Given the description of an element on the screen output the (x, y) to click on. 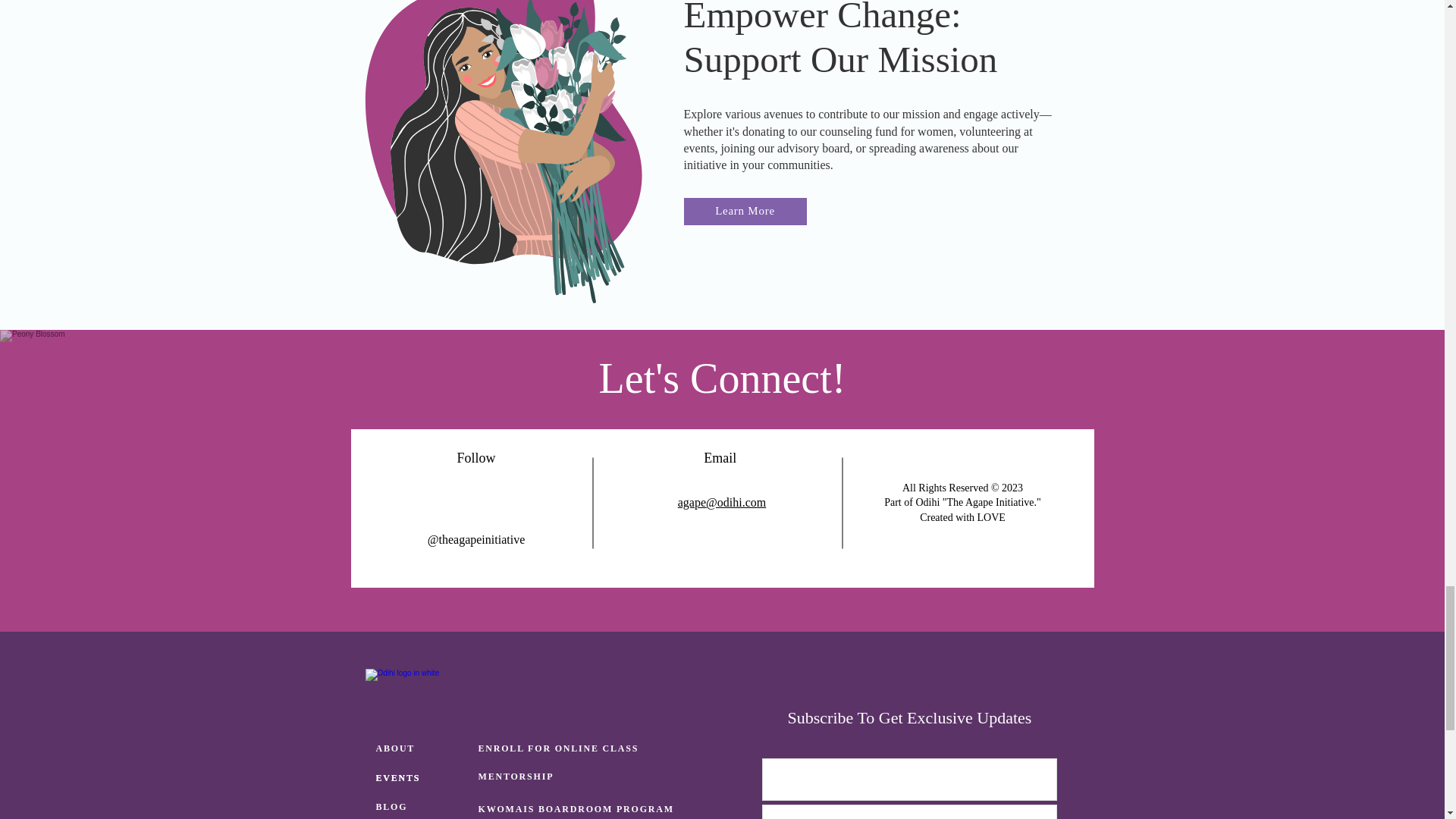
Learn More (745, 211)
EVENTS (422, 778)
ABOUT (422, 748)
ENROLL FOR ONLINE CLASS (561, 748)
BLOG (422, 805)
